Given the description of an element on the screen output the (x, y) to click on. 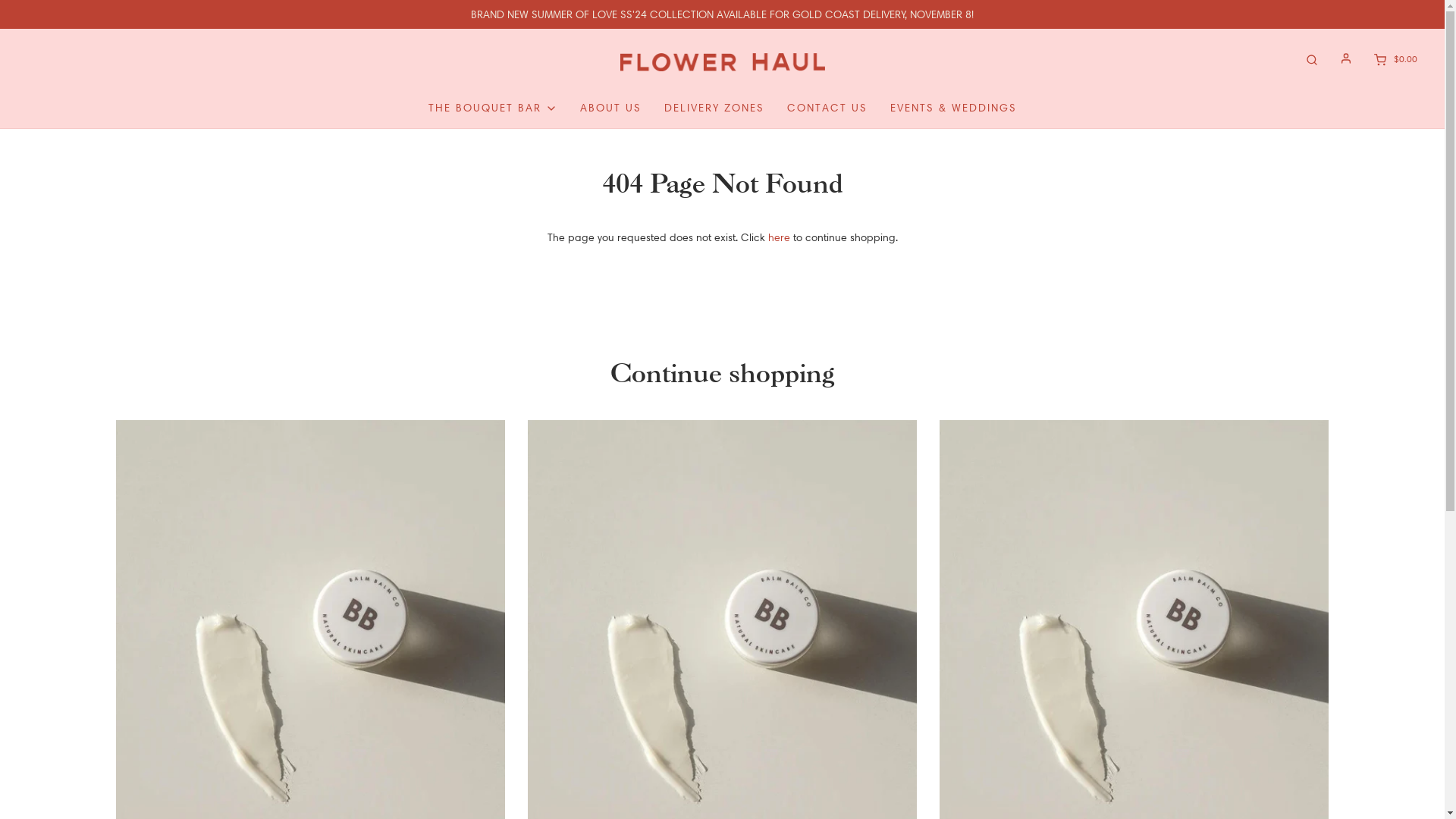
Search Element type: hover (1311, 58)
THE BOUQUET BAR Element type: text (491, 107)
CONTACT US Element type: text (827, 107)
EVENTS & WEDDINGS Element type: text (953, 107)
ABOUT US Element type: text (609, 107)
here Element type: text (778, 237)
$0.00 Element type: text (1393, 58)
Log in Element type: hover (1345, 58)
DELIVERY ZONES Element type: text (714, 107)
